Given the description of an element on the screen output the (x, y) to click on. 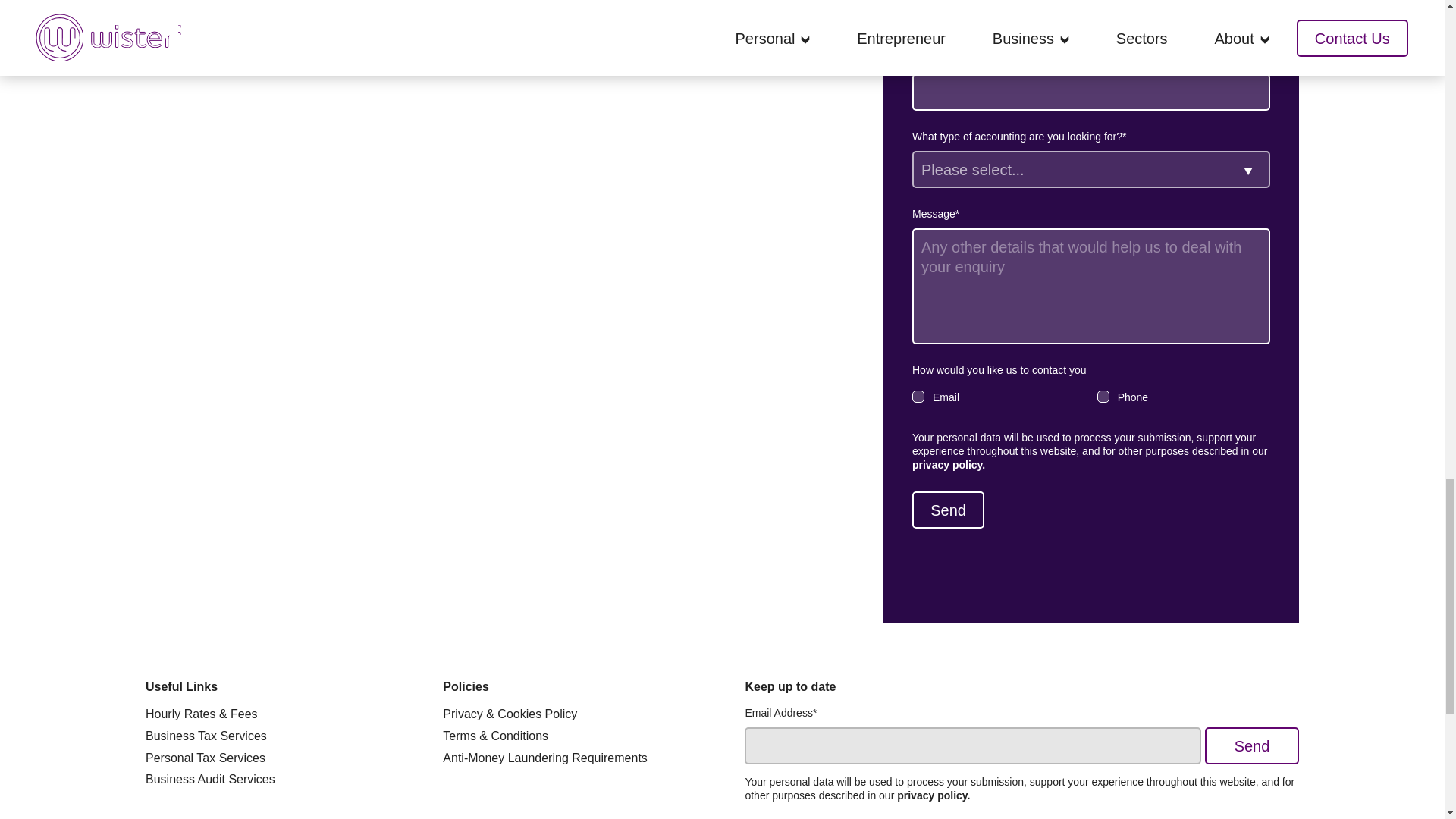
Send (948, 509)
email (918, 396)
Business Tax Services (205, 736)
phone (1103, 396)
privacy policy. (948, 464)
